Given the description of an element on the screen output the (x, y) to click on. 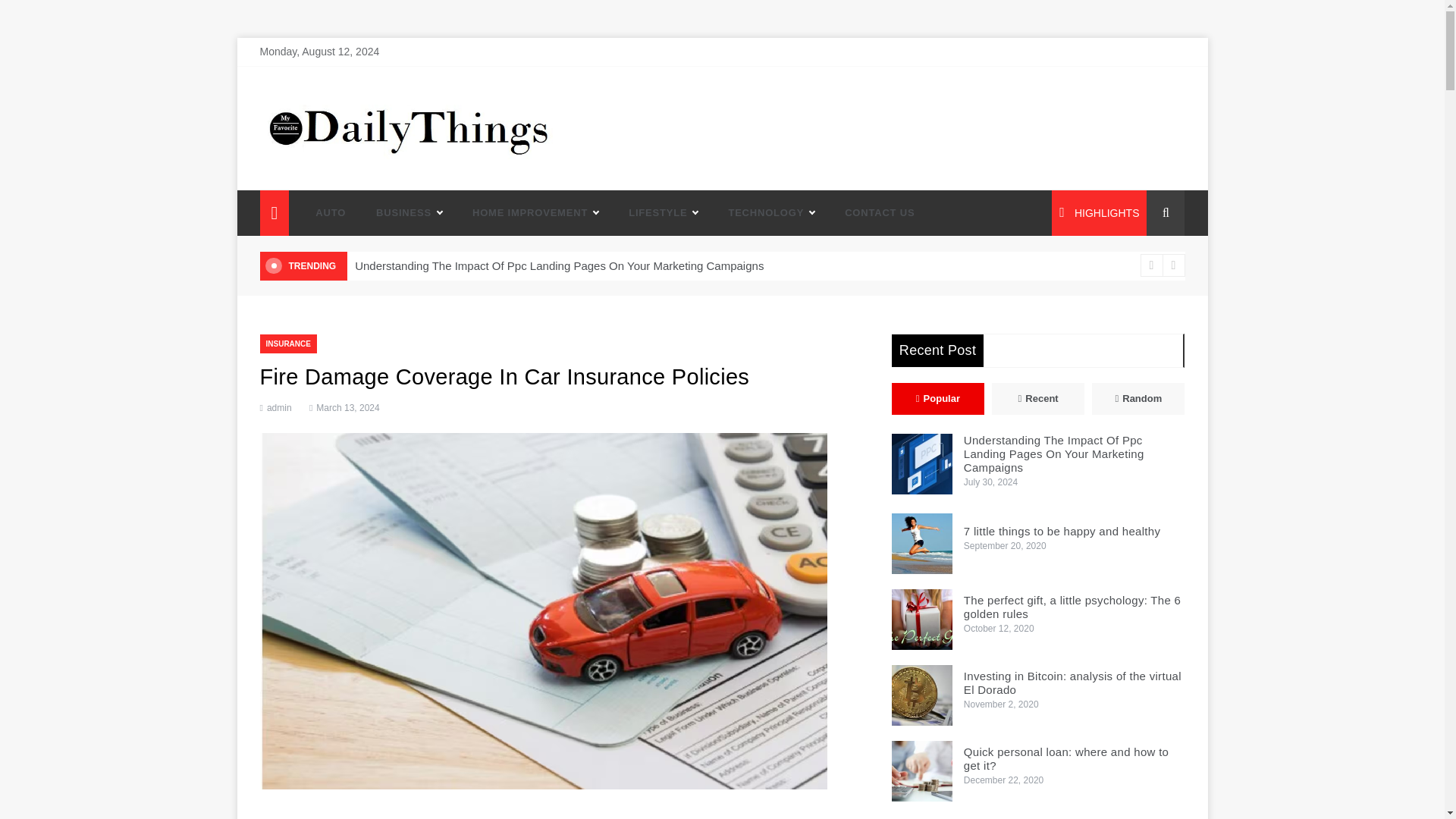
AUTO (330, 212)
March 13, 2024 (343, 407)
HIGHLIGHTS (1099, 212)
HOME IMPROVEMENT (534, 212)
CONTACT US (871, 212)
LIFESTYLE (662, 212)
TECHNOLOGY (771, 212)
admin (279, 407)
BUSINESS (409, 212)
